Given the description of an element on the screen output the (x, y) to click on. 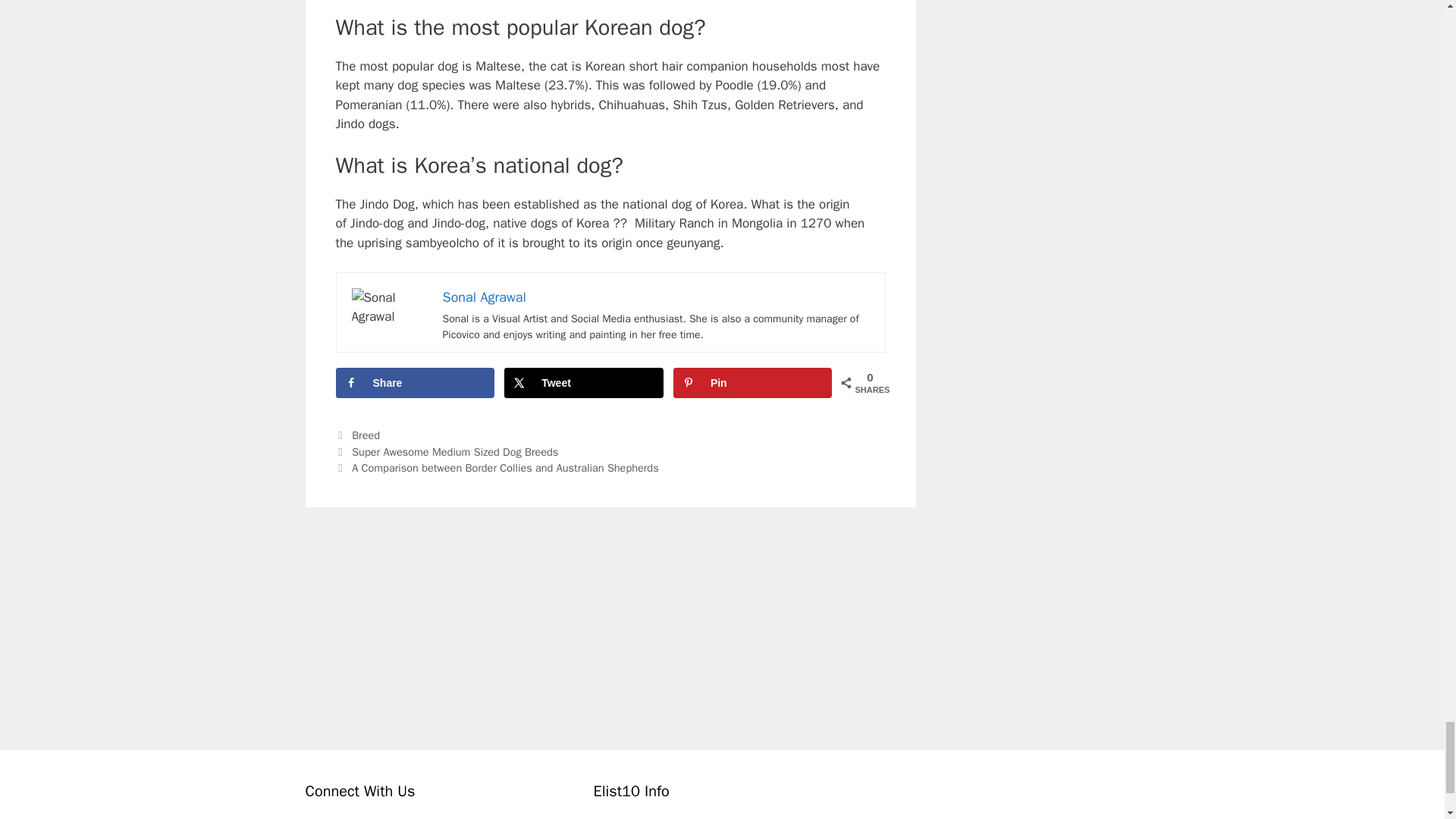
Sonal Agrawal (483, 297)
Super Awesome Medium Sized Dog Breeds (454, 451)
Share on Facebook (414, 382)
Share (414, 382)
Breed (366, 435)
Pin (752, 382)
Tweet (583, 382)
A Comparison between Border Collies and Australian Shepherds (505, 468)
Share on X (583, 382)
Save to Pinterest (752, 382)
